Given the description of an element on the screen output the (x, y) to click on. 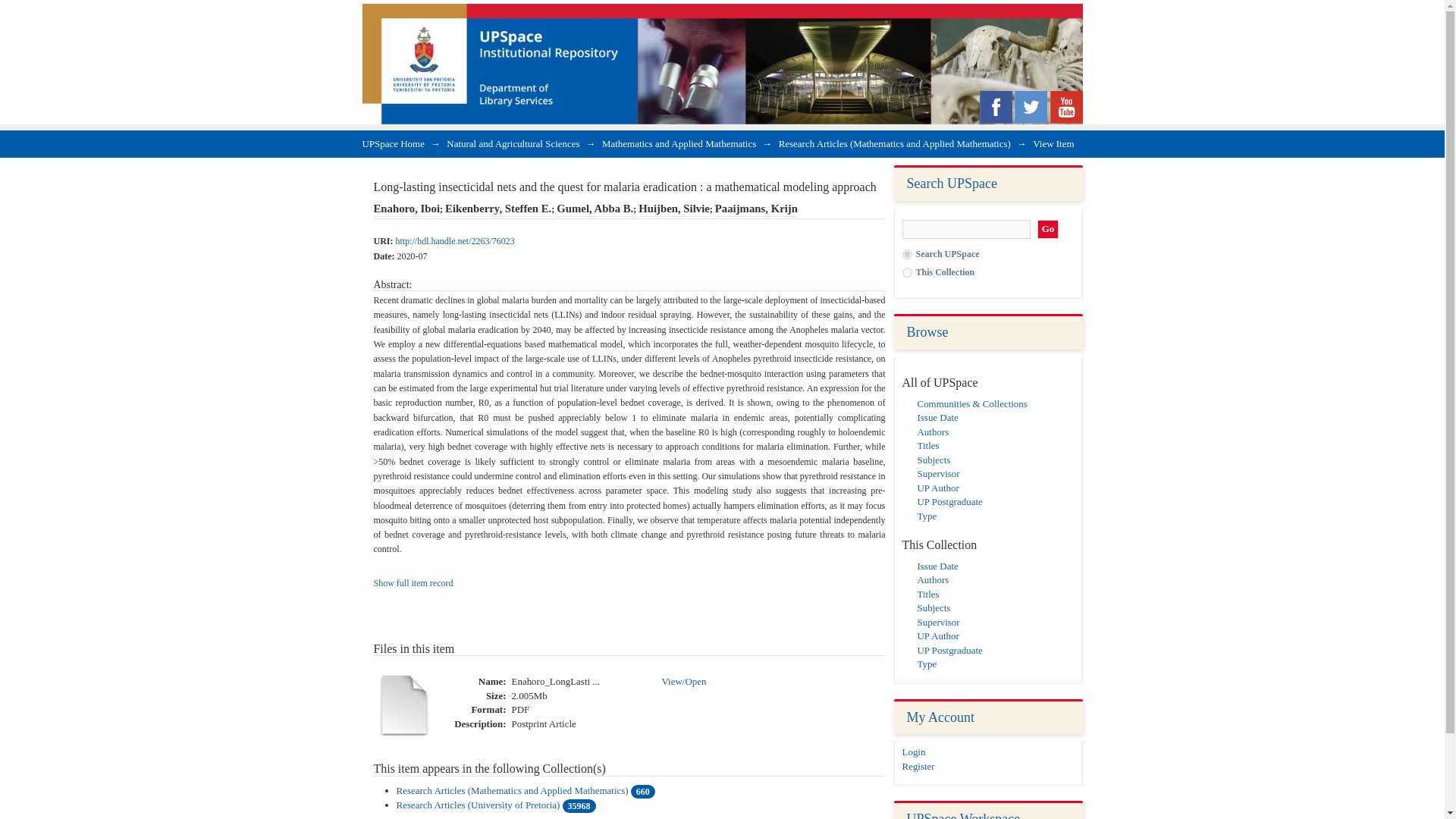
UP Postgraduate (949, 650)
Issue Date (937, 417)
UP Author (938, 635)
Login (914, 751)
UP Author (938, 487)
Supervisor (938, 622)
Postprint Article (543, 724)
UPSpace Home (393, 143)
Type (927, 514)
UPSpace Workspace (963, 815)
